Given the description of an element on the screen output the (x, y) to click on. 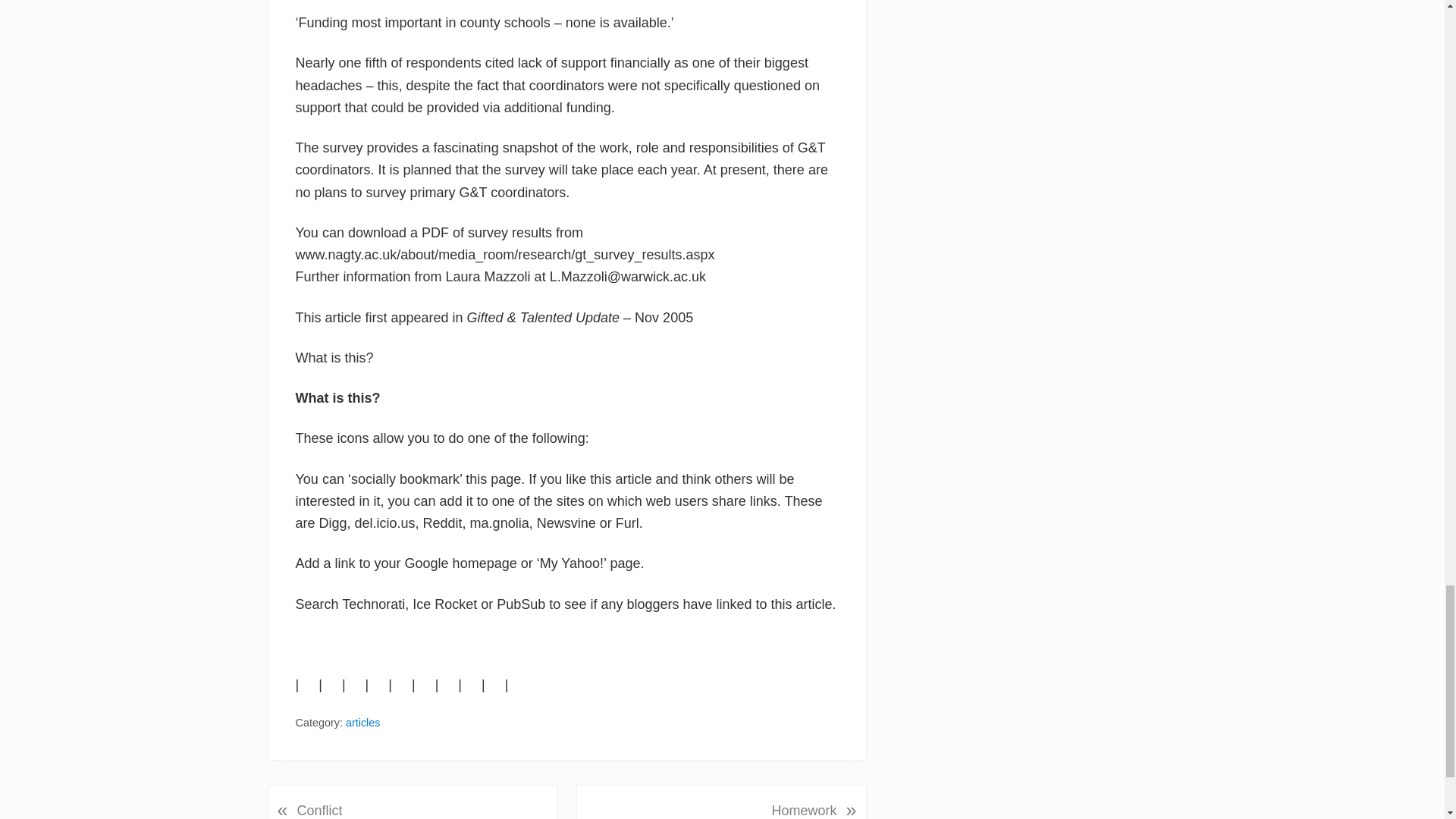
articles (363, 722)
